Given the description of an element on the screen output the (x, y) to click on. 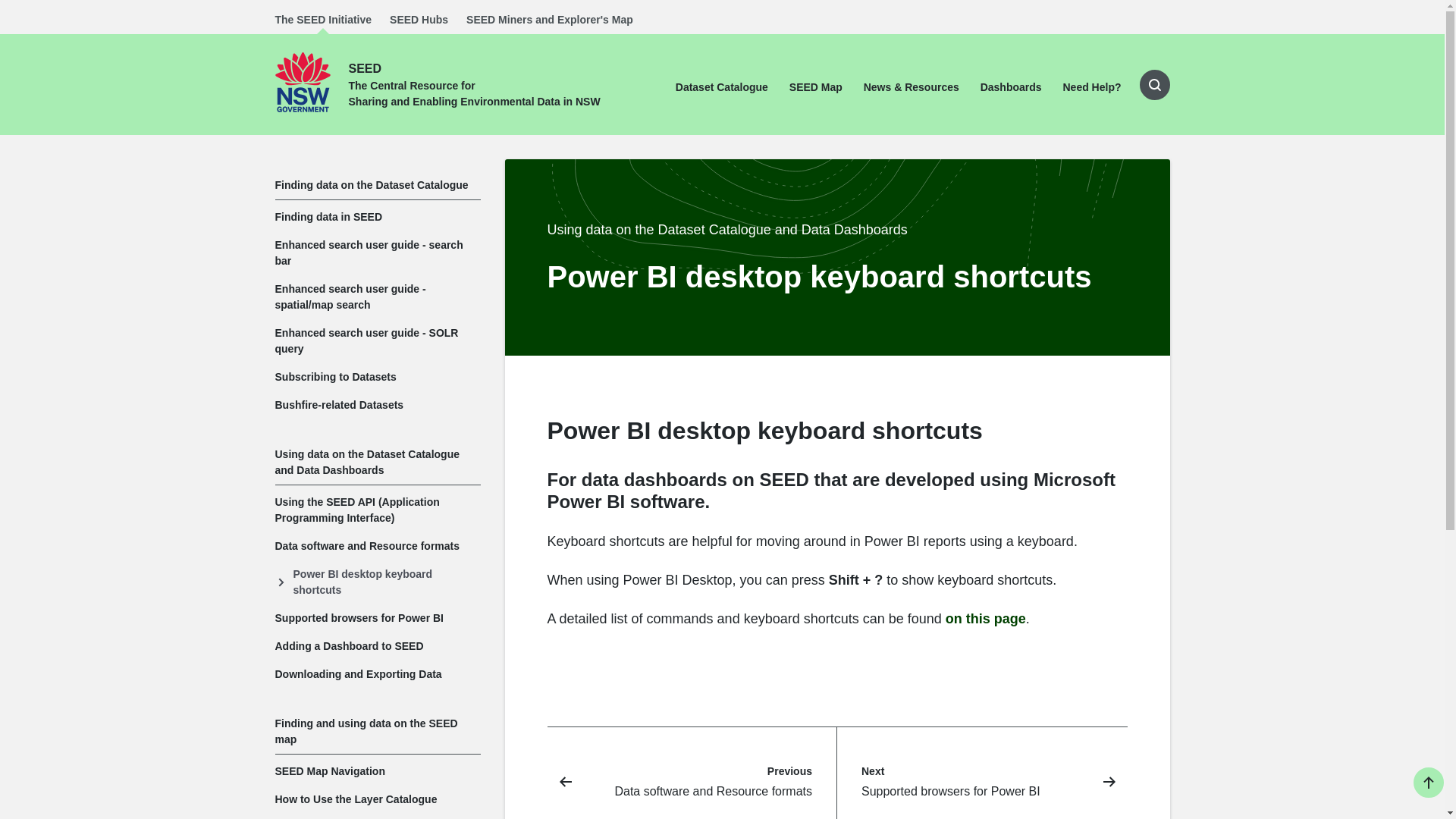
Enhanced search user guide - search bar (377, 252)
Enhanced search user guide - SOLR query (377, 341)
Dashboards (1010, 87)
SEED help pages (1091, 87)
Downloading and Exporting Data (377, 674)
Bushfire-related Datasets (377, 404)
How to Add Your Data to the SEED Map (377, 817)
Search (5, 2)
Power BI desktop keyboard shortcuts (377, 582)
Subscribing to Datasets (377, 377)
